Given the description of an element on the screen output the (x, y) to click on. 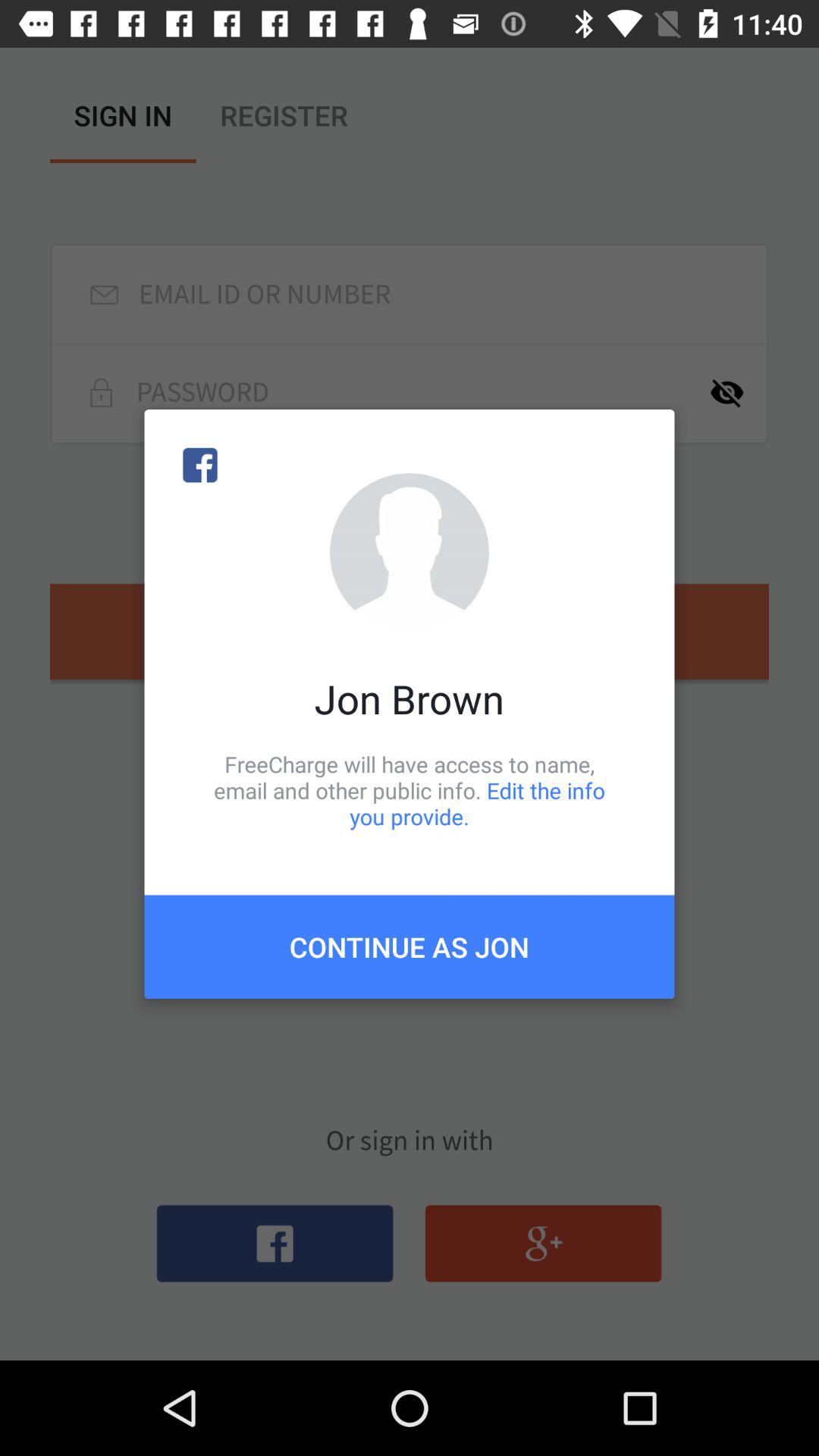
scroll until freecharge will have (409, 790)
